Given the description of an element on the screen output the (x, y) to click on. 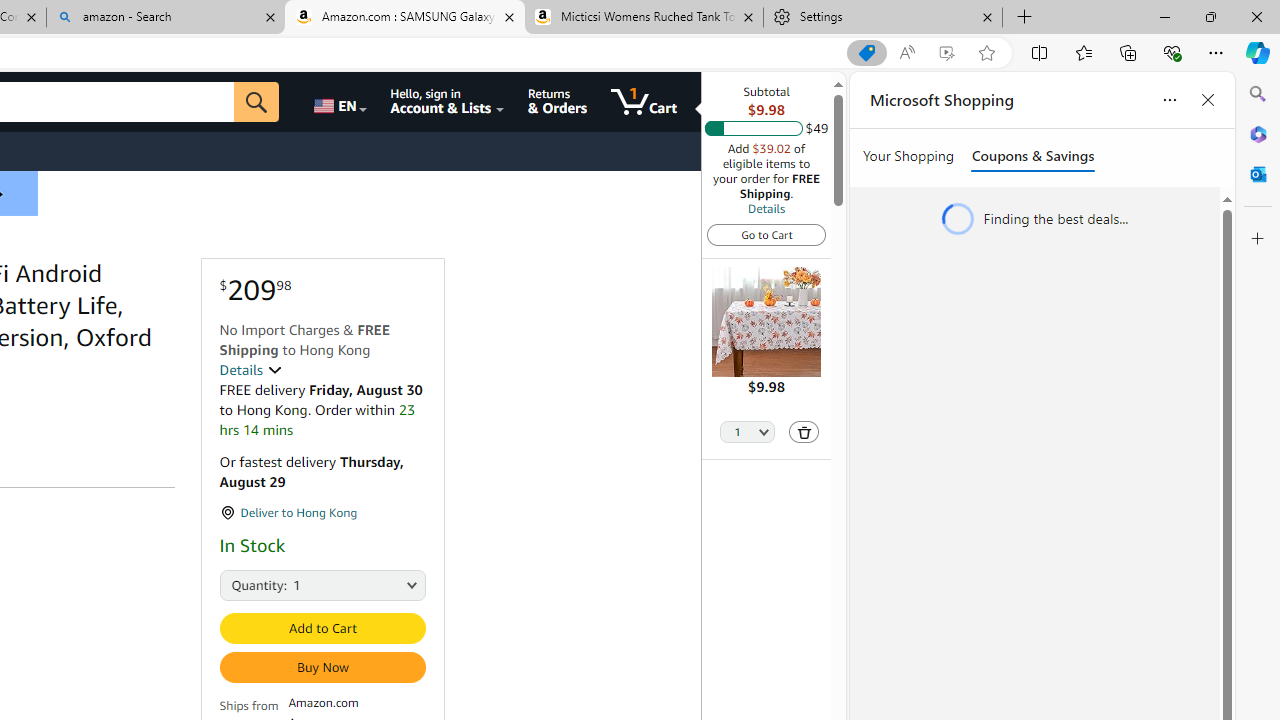
Delete (803, 431)
Buy Now (322, 667)
Details (765, 208)
Go to Cart (766, 234)
Go (257, 101)
1 item in cart (643, 101)
Returns & Orders (557, 101)
